Given the description of an element on the screen output the (x, y) to click on. 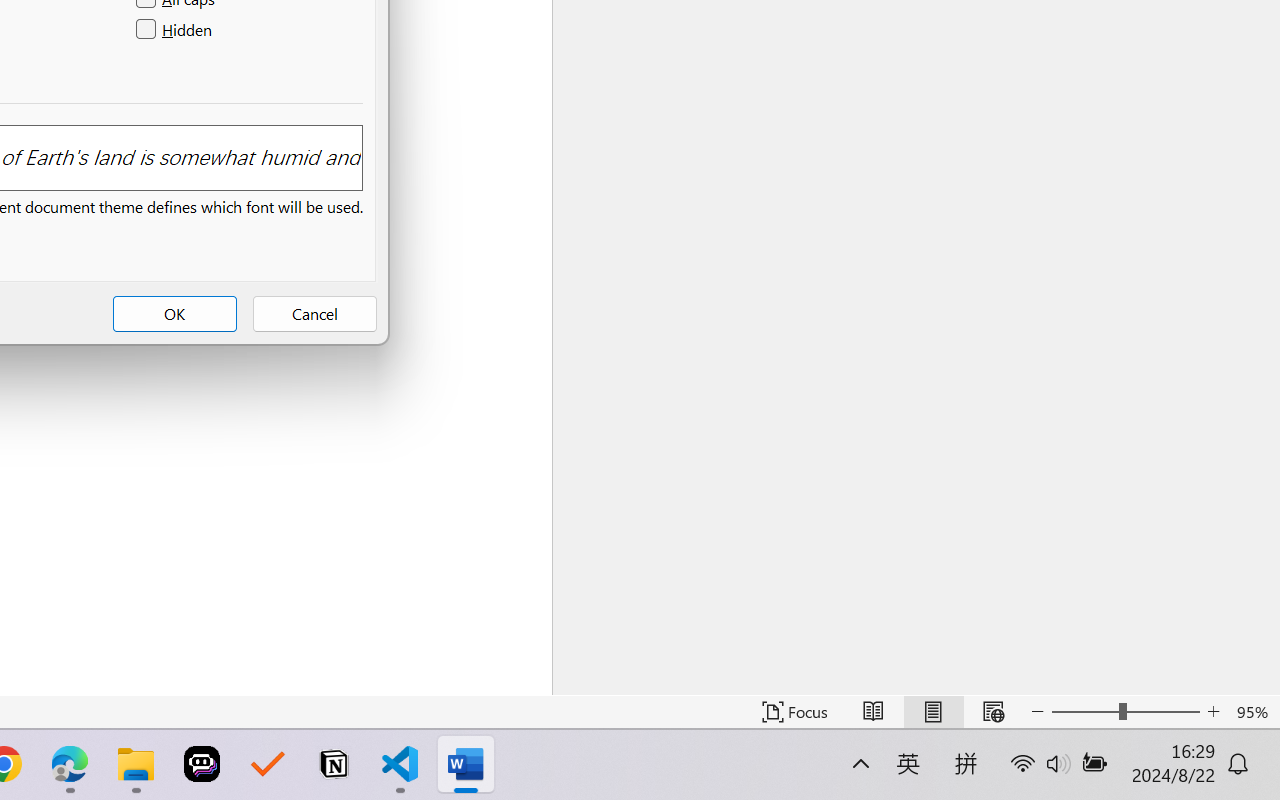
Hidden (175, 29)
Notion (333, 764)
Cancel (314, 313)
